Given the description of an element on the screen output the (x, y) to click on. 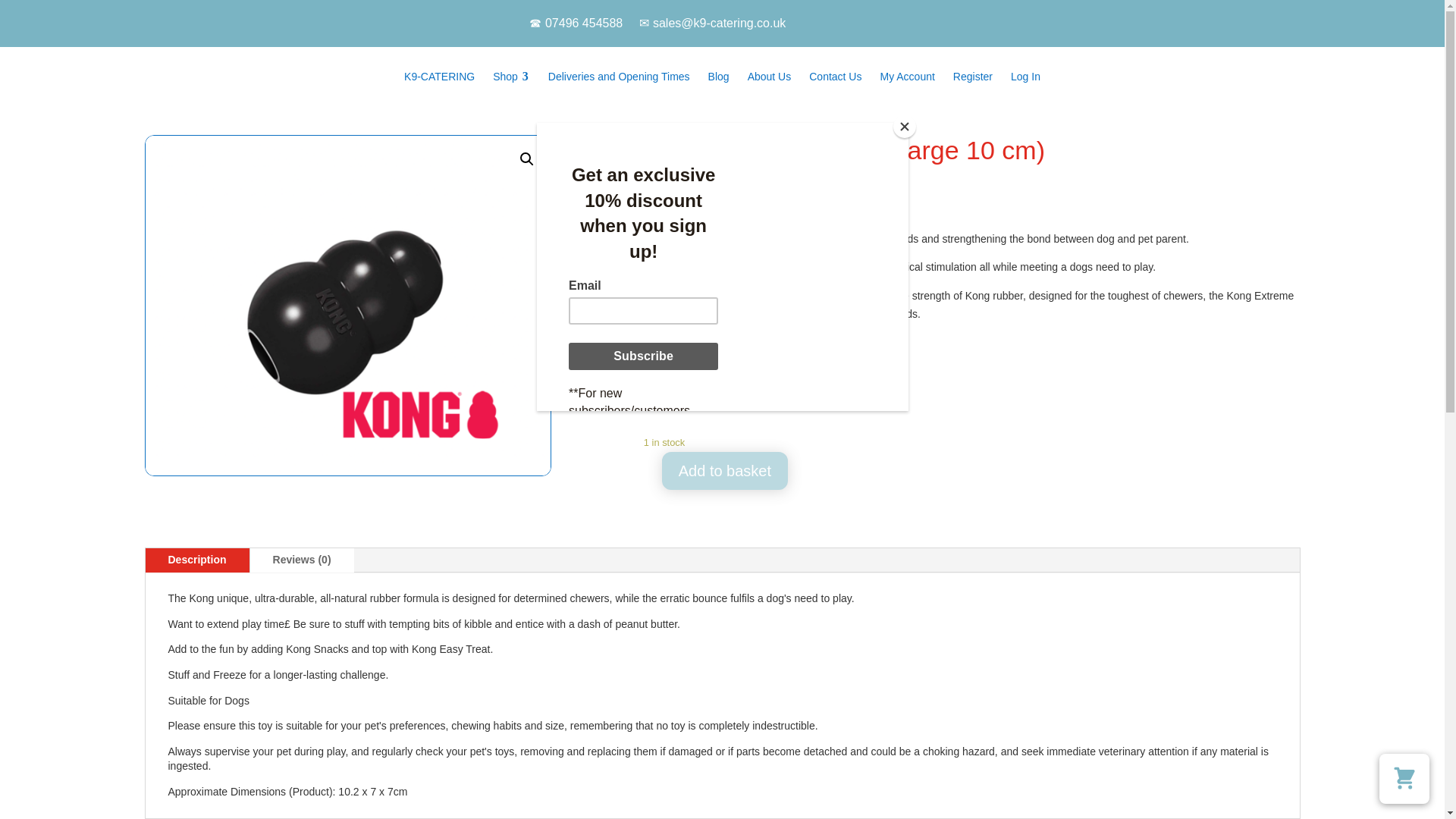
K9-CATERING (438, 76)
Shop (510, 76)
